Given the description of an element on the screen output the (x, y) to click on. 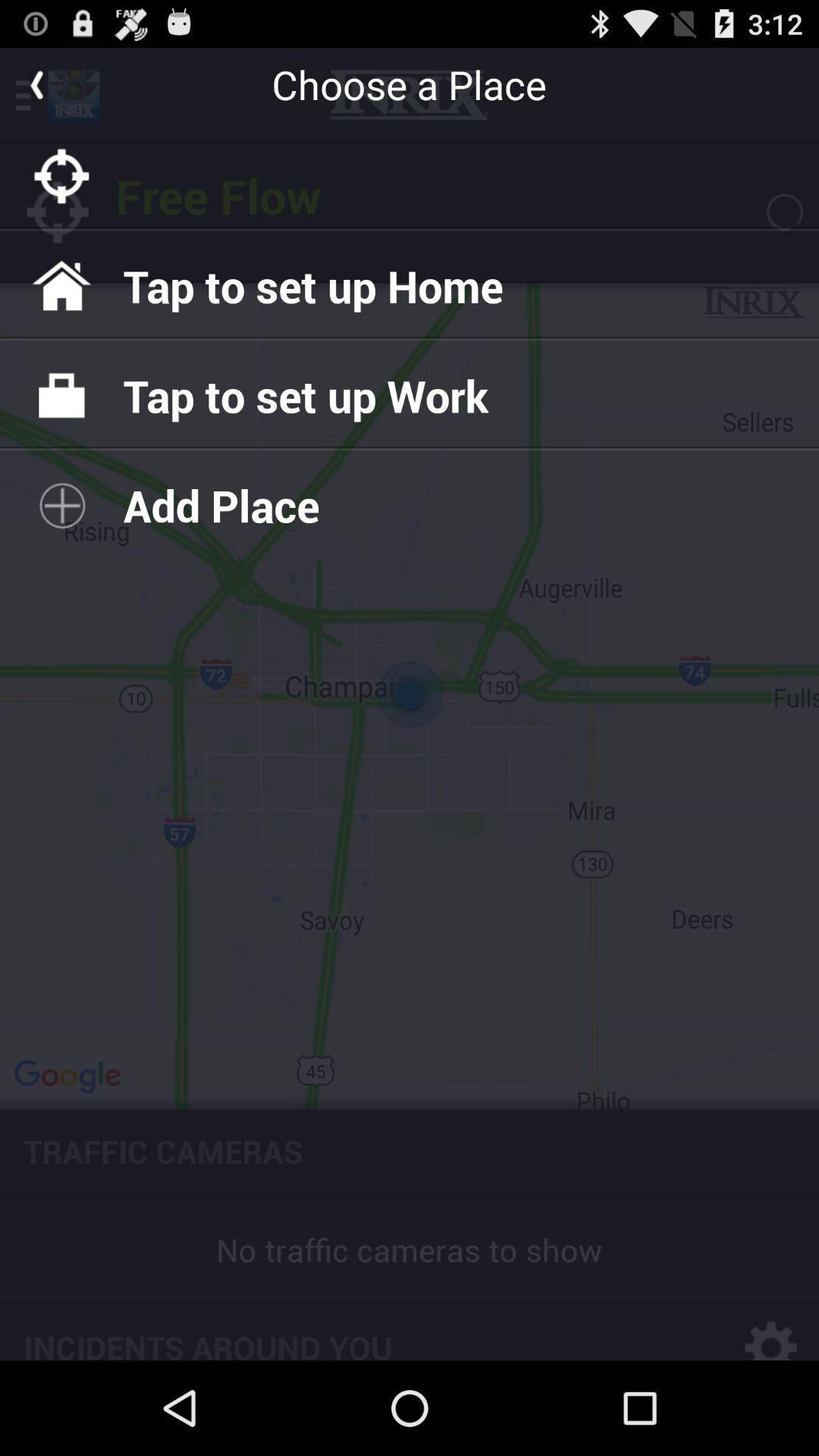
click the icon next to the choose a place item (35, 84)
